Given the description of an element on the screen output the (x, y) to click on. 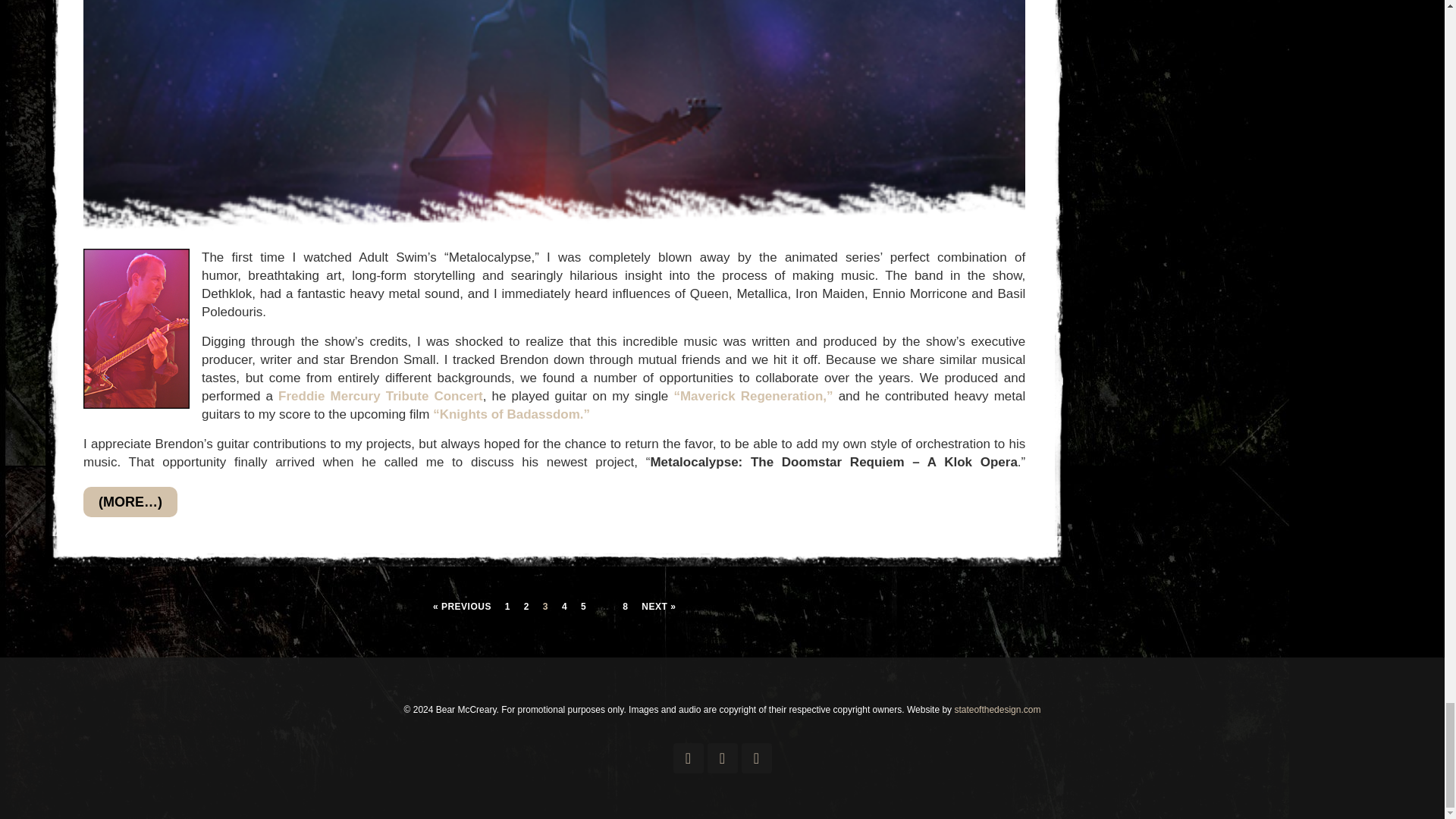
Freddie Mercury Tribute Concert (380, 396)
